Given the description of an element on the screen output the (x, y) to click on. 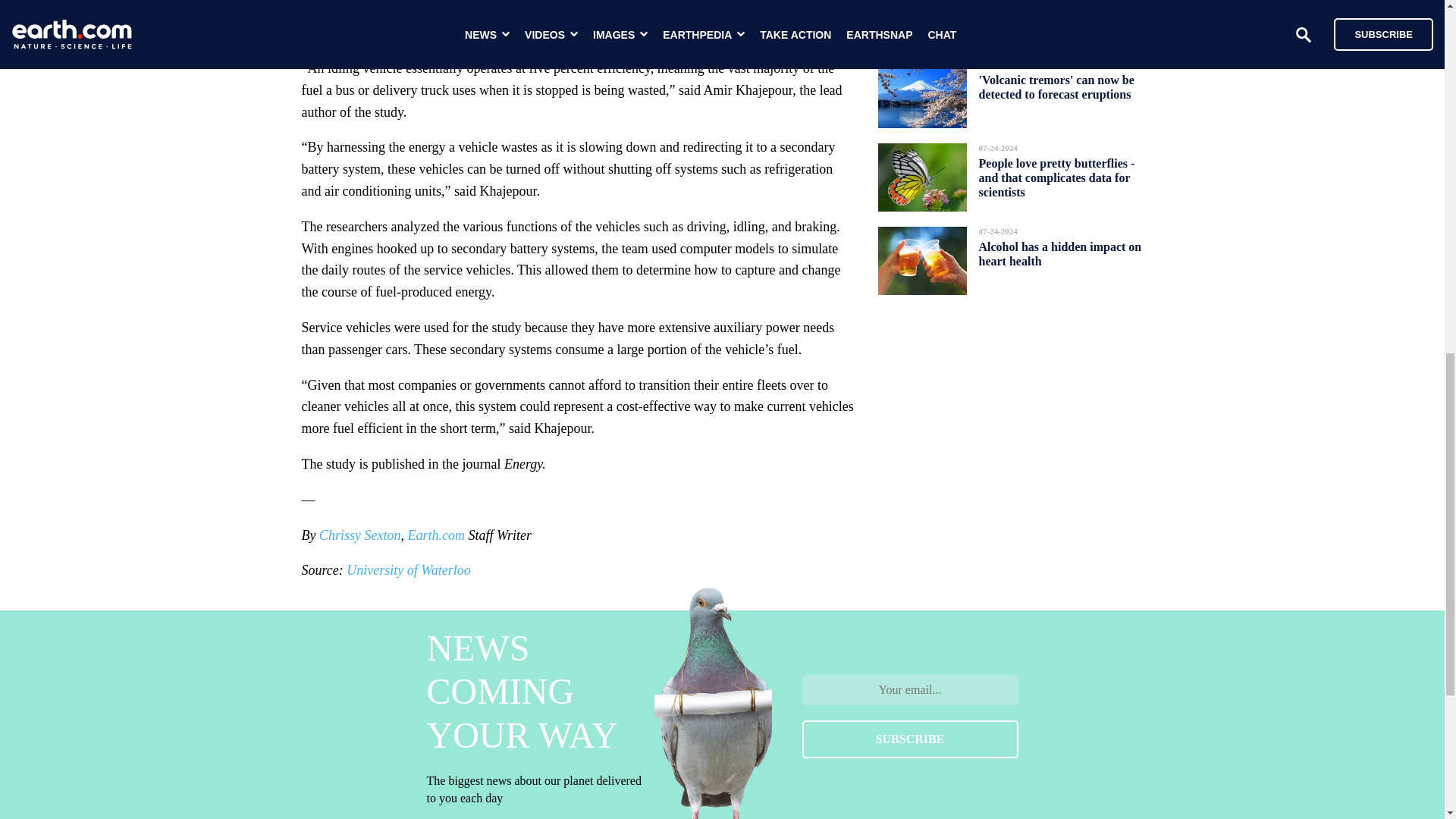
University of Waterloo (408, 570)
SUBSCRIBE (909, 739)
Earth.com (435, 534)
'Volcanic tremors' can now be detected to forecast eruptions (1056, 87)
Chrissy Sexton (359, 534)
Alcohol has a hidden impact on heart health (1059, 253)
Daylight saving time causes unhealthy lifestyle choices (1049, 12)
